Given the description of an element on the screen output the (x, y) to click on. 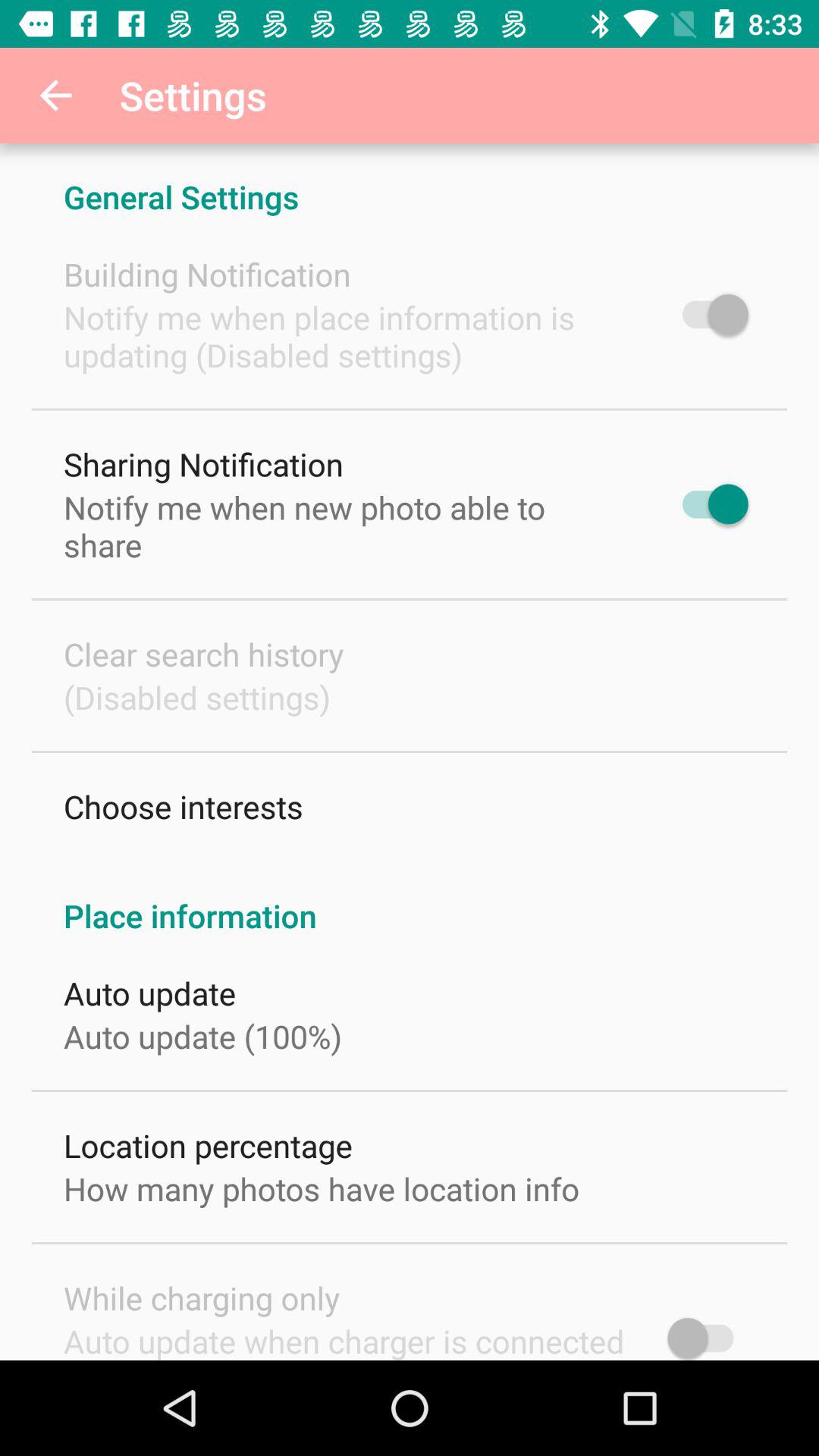
flip to the while charging only (201, 1297)
